Given the description of an element on the screen output the (x, y) to click on. 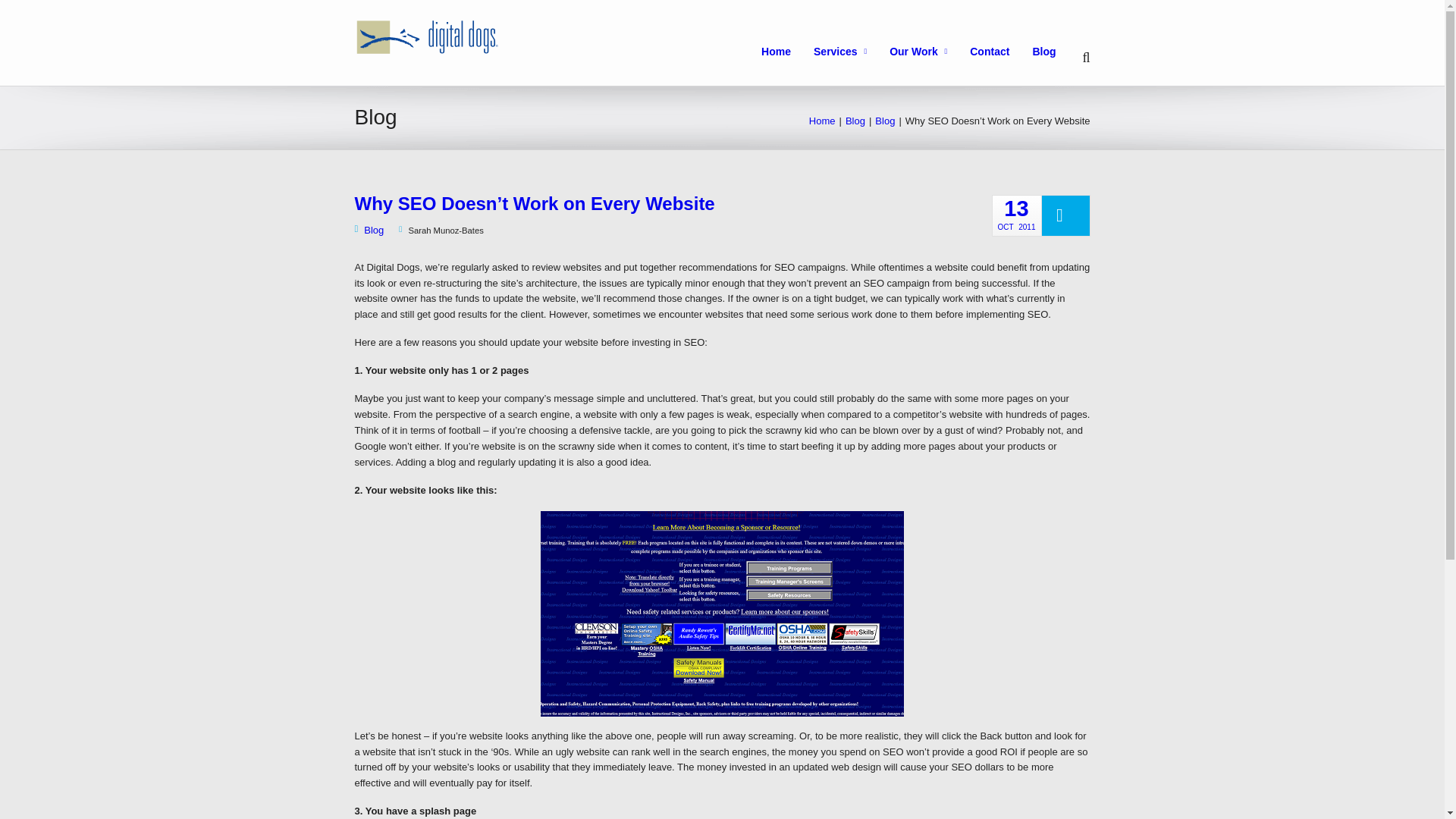
Home (787, 51)
Blog (854, 120)
Blog (369, 229)
Sarah Munoz-Bates (440, 230)
Home (822, 120)
Our Work (1016, 214)
Services (929, 51)
Contact (851, 51)
View all posts by Sarah Munoz-Bates (1000, 51)
UglyWebsite (440, 230)
Blog (722, 613)
Blog (885, 120)
